Given the description of an element on the screen output the (x, y) to click on. 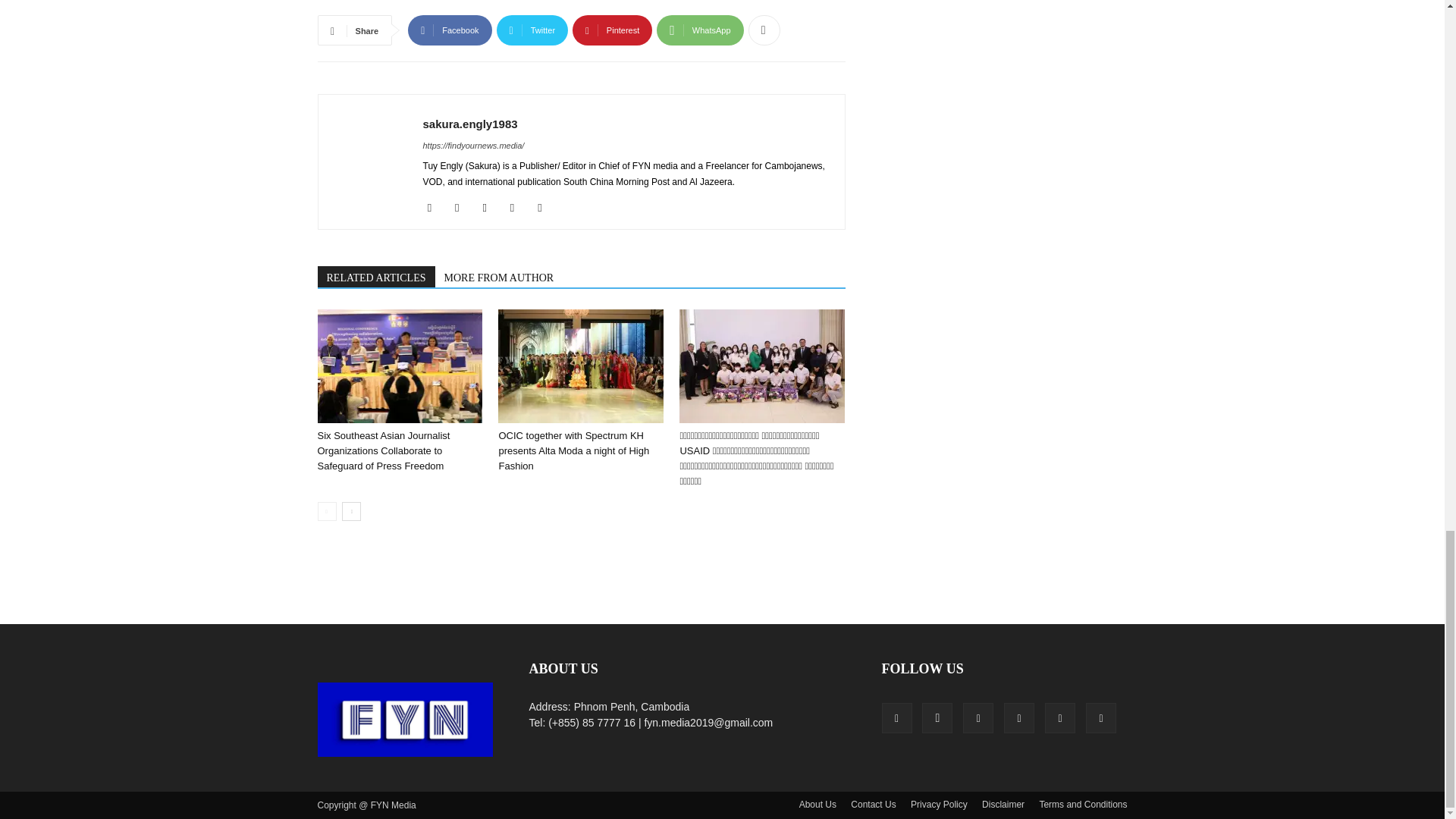
Facebook (449, 30)
Pinterest (612, 30)
Twitter (532, 30)
